Given the description of an element on the screen output the (x, y) to click on. 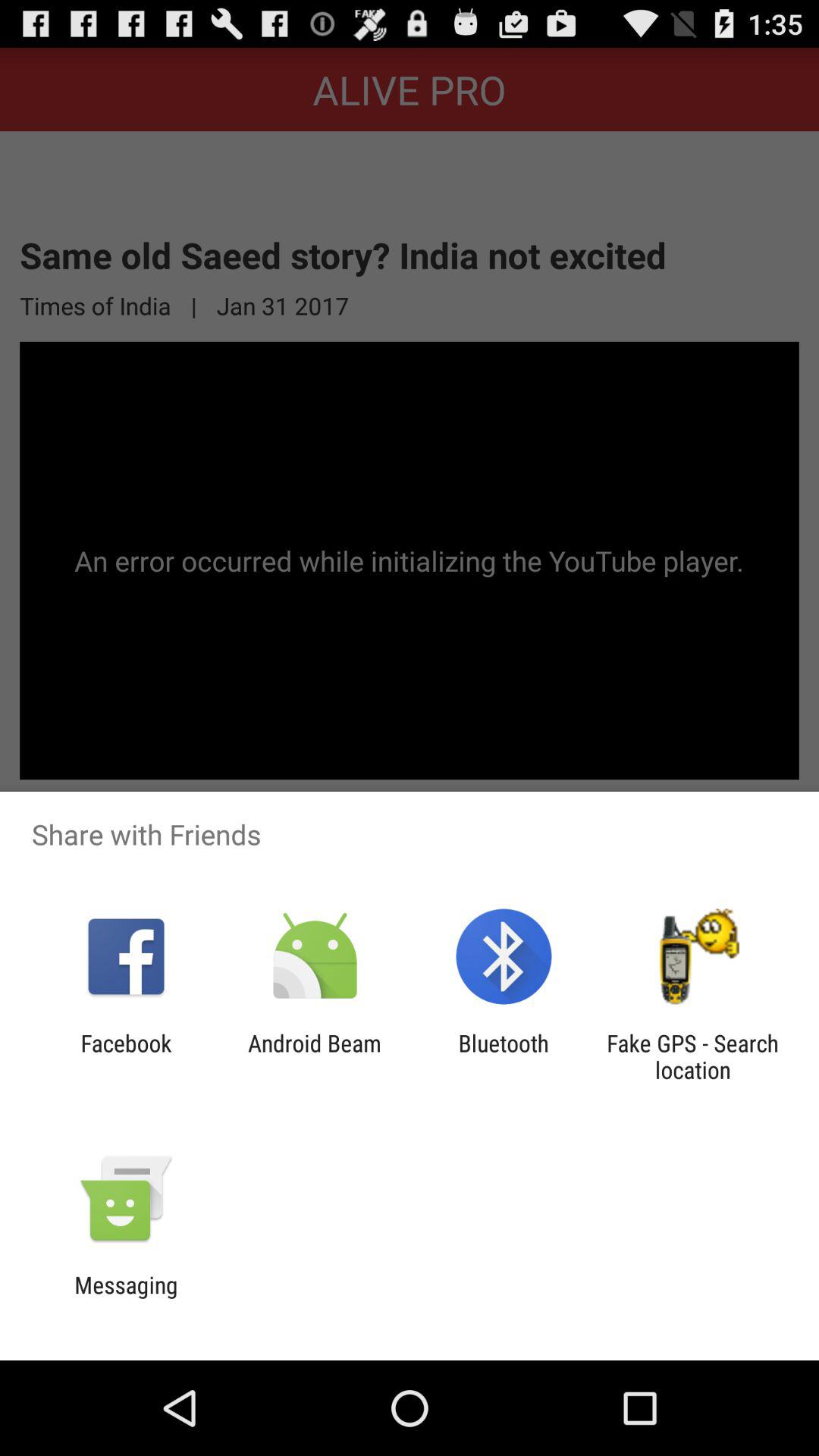
select messaging (126, 1298)
